Given the description of an element on the screen output the (x, y) to click on. 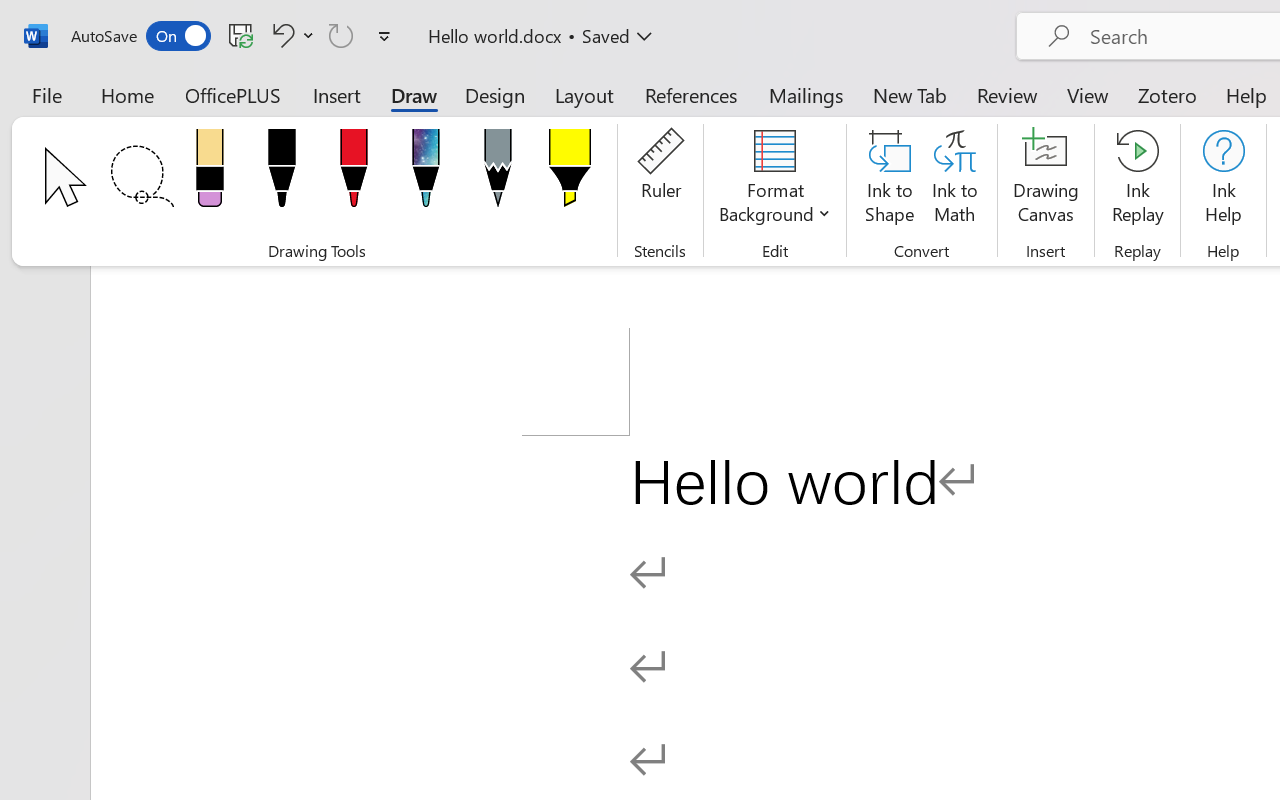
More Options (308, 35)
Can't Repeat (341, 35)
Layout (584, 94)
Mailings (806, 94)
Ink Replay (1137, 179)
Quick Access Toolbar (233, 36)
Ink to Shape (889, 179)
File Tab (46, 94)
Pen: Black, 0.5 mm (281, 173)
Drawing Canvas (1045, 179)
View (1087, 94)
Highlighter: Yellow, 6 mm (569, 173)
Insert (337, 94)
